Given the description of an element on the screen output the (x, y) to click on. 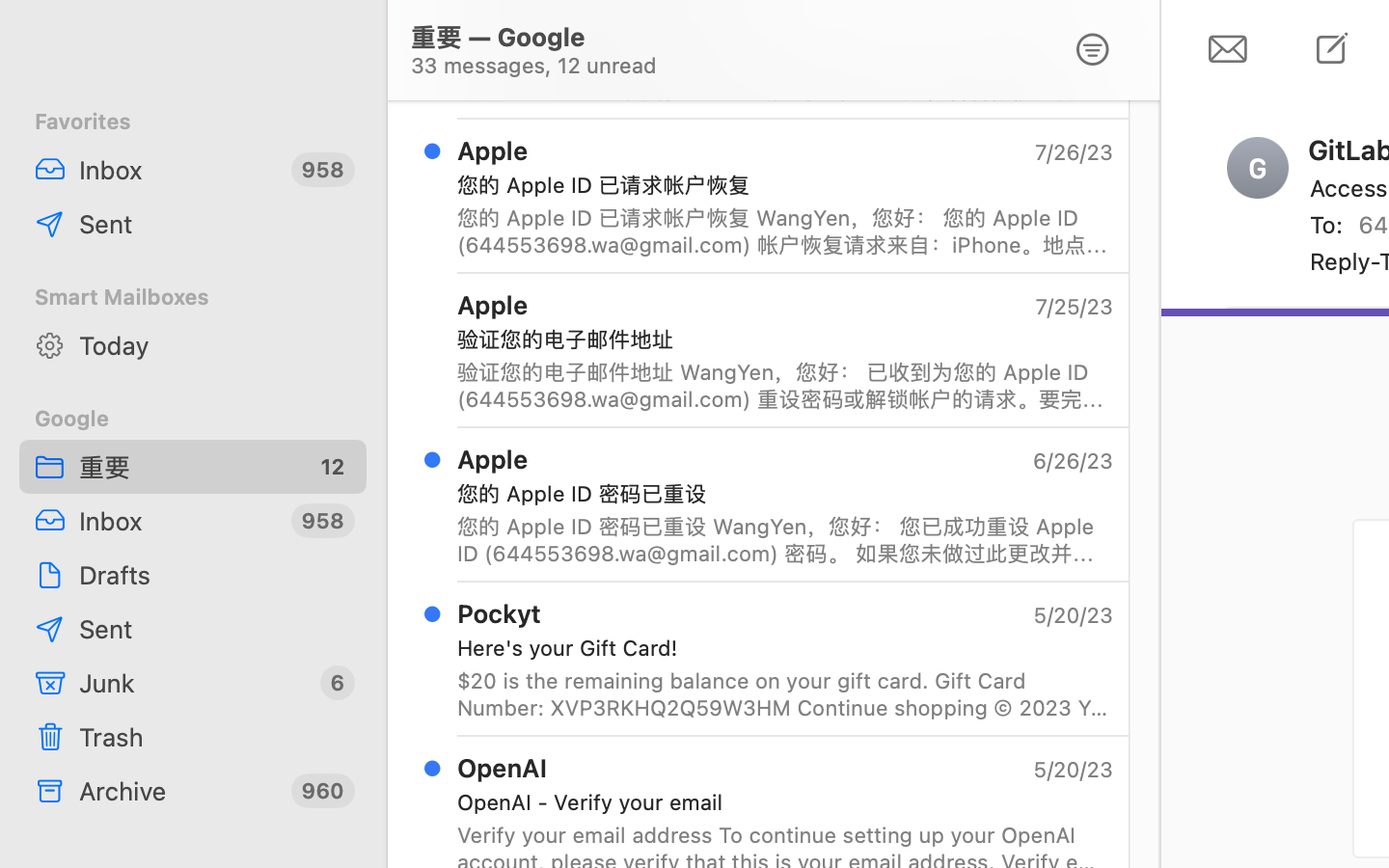
Today Element type: AXTextField (214, 344)
Drafts Element type: AXStaticText (214, 574)
Trash Element type: AXStaticText (214, 736)
Smart Mailboxes Element type: AXStaticText (192, 296)
您的 Apple ID 密码已重设 Element type: AXStaticText (777, 493)
